Given the description of an element on the screen output the (x, y) to click on. 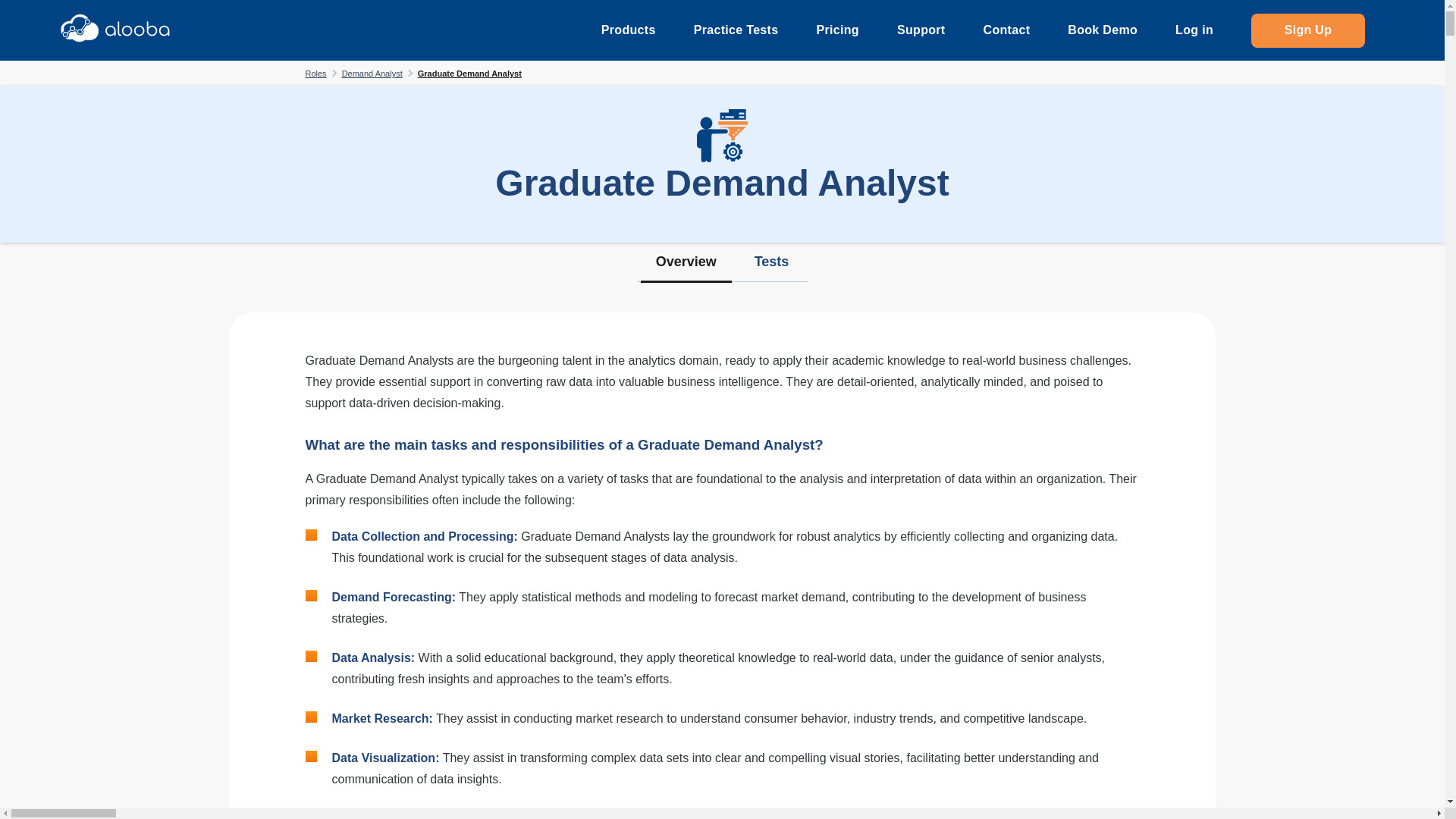
Sign Up (1307, 30)
Roles (315, 72)
Graduate Demand Analyst (469, 72)
Demand Analyst (372, 72)
Tests (771, 263)
Practice Tests (736, 30)
Products (628, 30)
Overview (686, 263)
Book Demo (1102, 30)
